Given the description of an element on the screen output the (x, y) to click on. 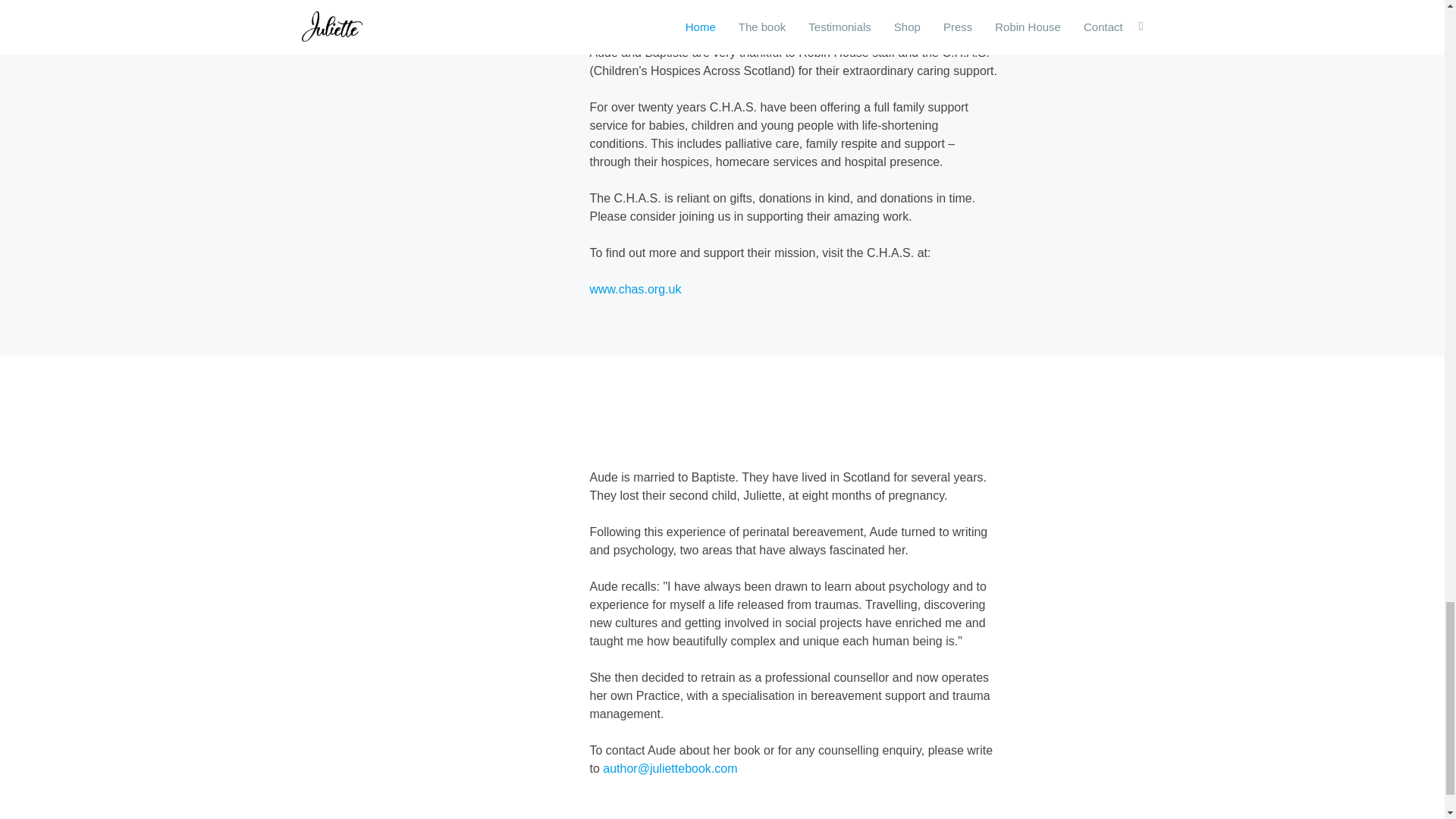
www.chas.org.uk (635, 288)
